Given the description of an element on the screen output the (x, y) to click on. 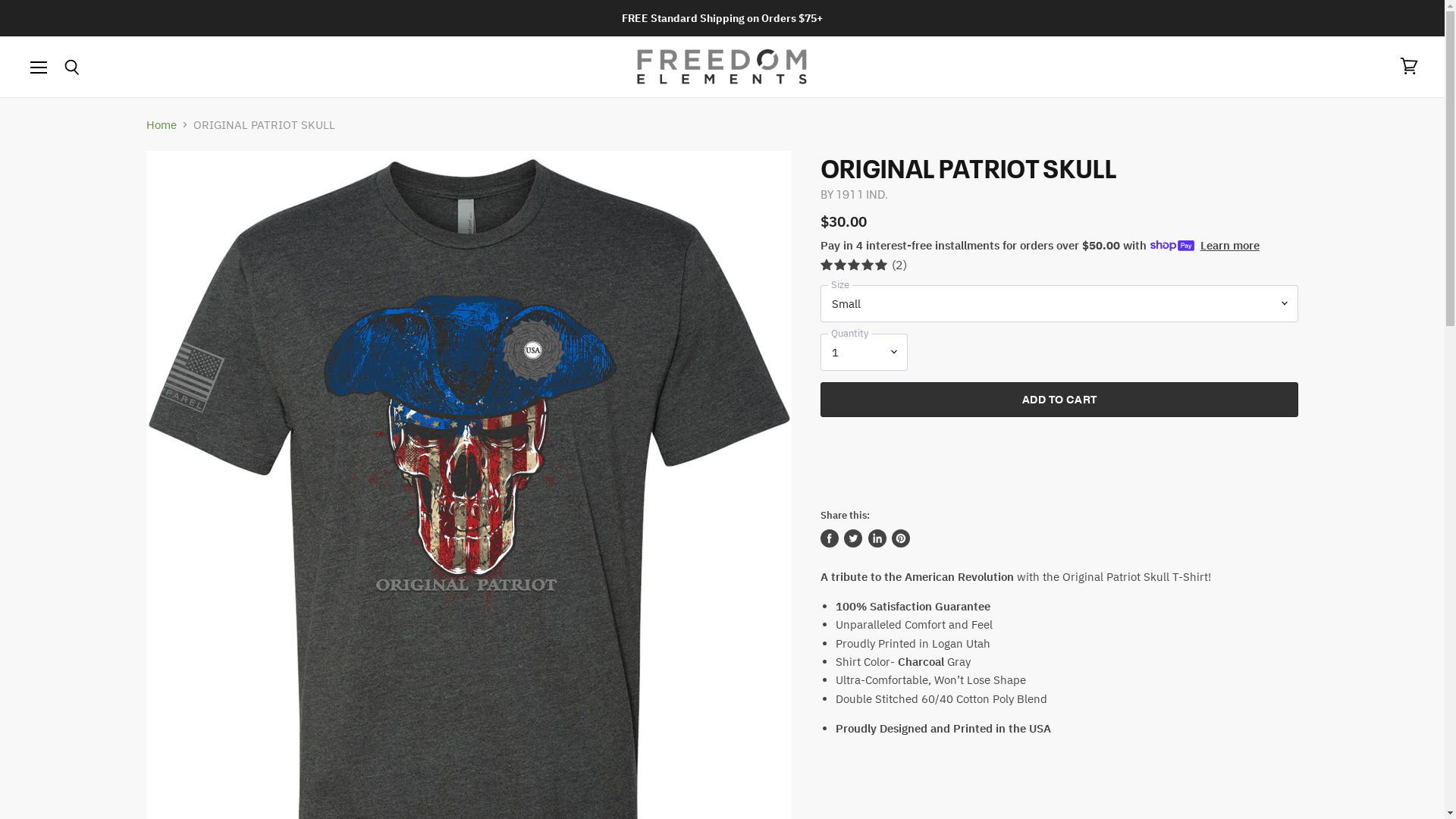
Search Element type: text (71, 67)
Tweet on Twitter Element type: text (853, 538)
Home Element type: text (160, 124)
View cart Element type: text (1408, 66)
Share on LinkedIn Element type: text (877, 538)
ADD TO CART Element type: text (1059, 399)
 (2) Element type: text (1059, 265)
Share on Facebook Element type: text (829, 538)
Menu Element type: text (38, 66)
1911 IND. Element type: text (861, 192)
Pin on Pinterest Element type: text (900, 538)
